Given the description of an element on the screen output the (x, y) to click on. 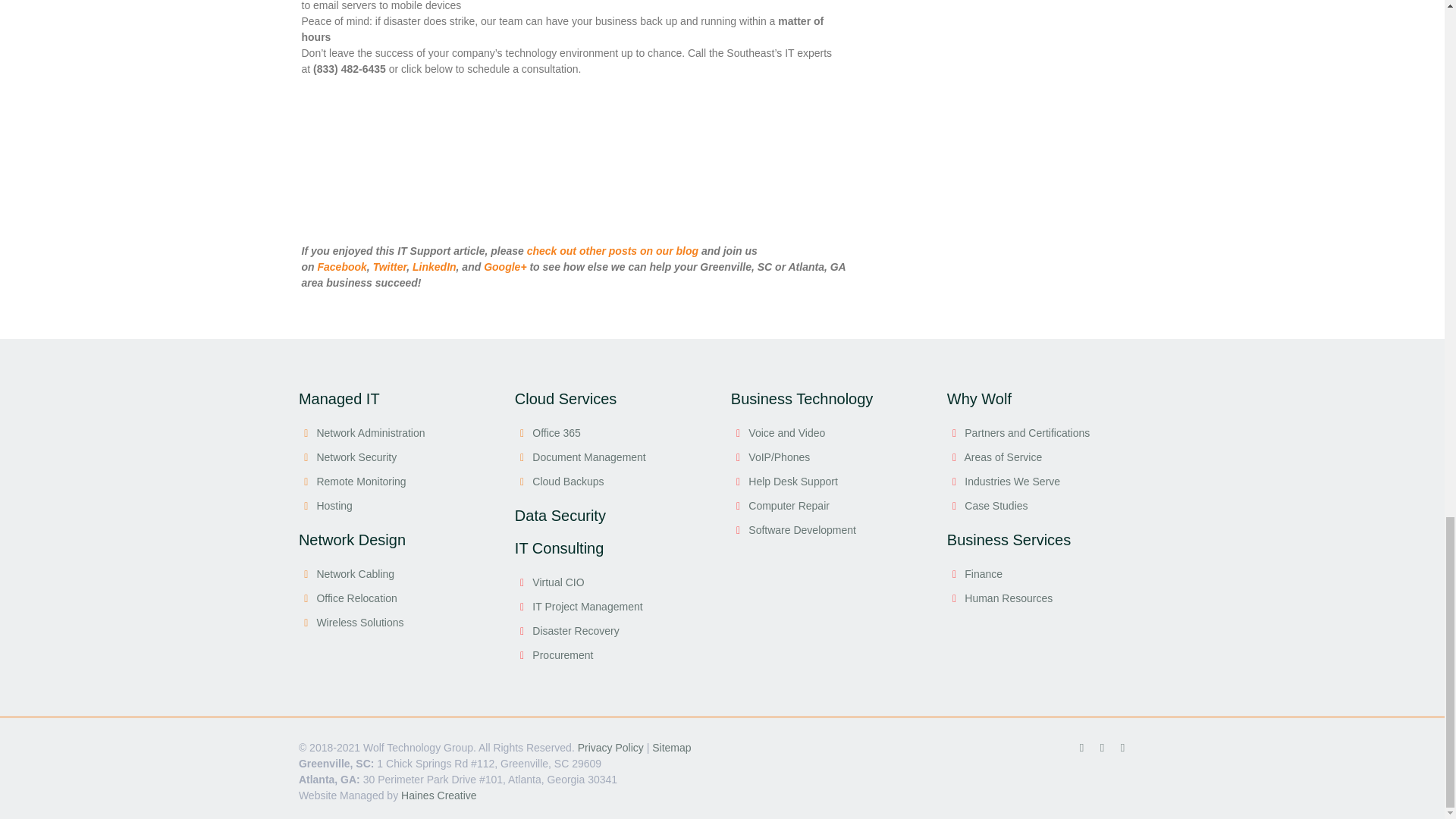
Facebook (1081, 747)
LinkedIn (1123, 747)
Twitter (1101, 747)
